Given the description of an element on the screen output the (x, y) to click on. 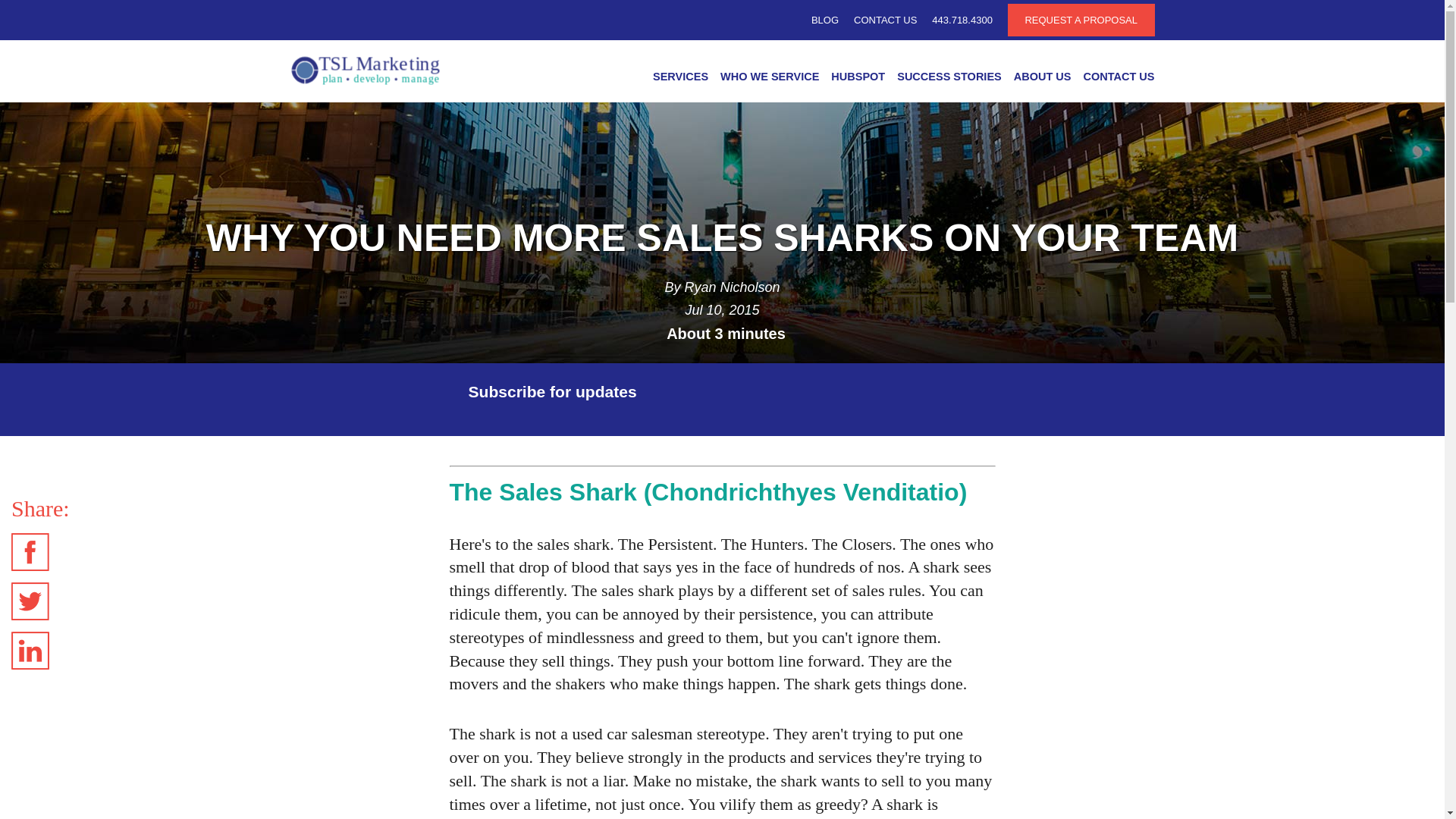
BLOG (824, 19)
CONTACT US (885, 19)
HUBSPOT (858, 79)
SERVICES (680, 79)
443.718.4300 (961, 19)
WHO WE SERVICE (769, 79)
SUCCESS STORIES (949, 79)
ABOUT US (1042, 79)
REQUEST A PROPOSAL (1080, 20)
CONTACT US (1115, 79)
